Given the description of an element on the screen output the (x, y) to click on. 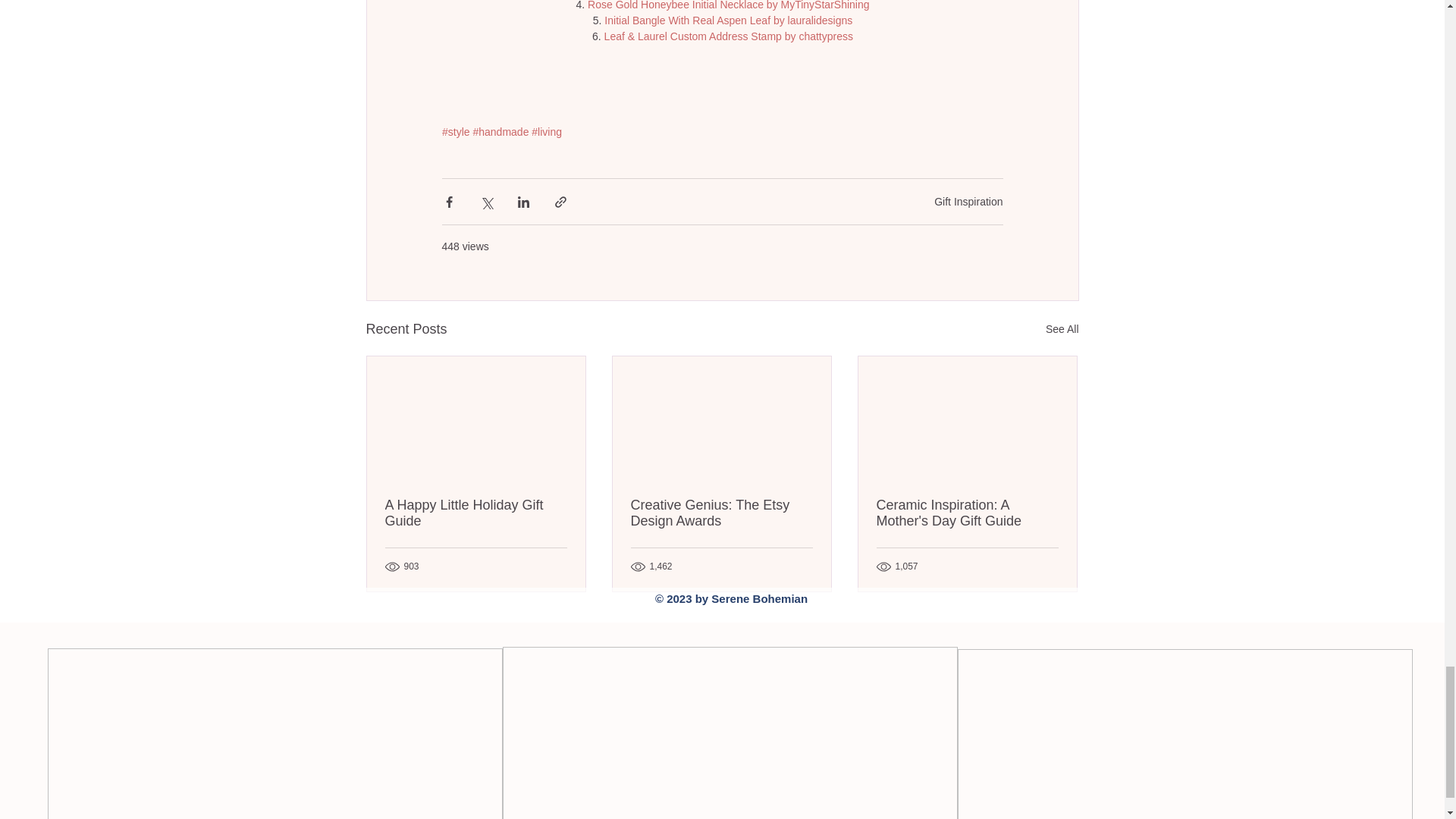
A Happy Little Holiday Gift Guide (476, 513)
seamless border 3.png (274, 733)
Rose Gold Honeybee Initial Necklace by MyTinyStarShining (728, 5)
Gift Inspiration (968, 201)
seamless border 3.png (1184, 734)
Creative Genius: The Etsy Design Awards (721, 513)
Initial Bangle With Real Aspen Leaf by lauralidesigns (727, 20)
seamless border 3.png (729, 733)
See All (1061, 329)
